Given the description of an element on the screen output the (x, y) to click on. 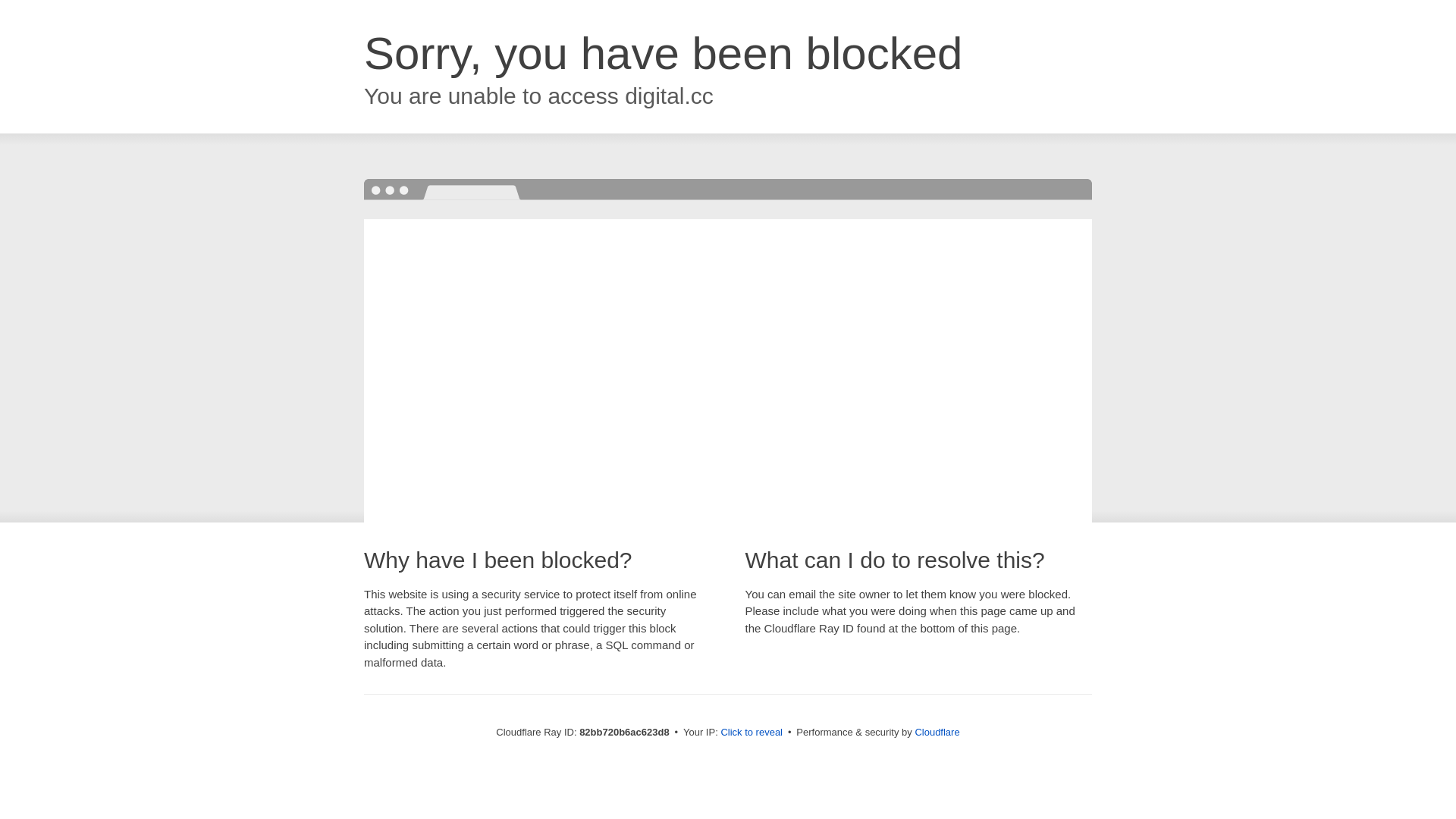
Click to reveal Element type: text (751, 732)
Cloudflare Element type: text (936, 731)
